Given the description of an element on the screen output the (x, y) to click on. 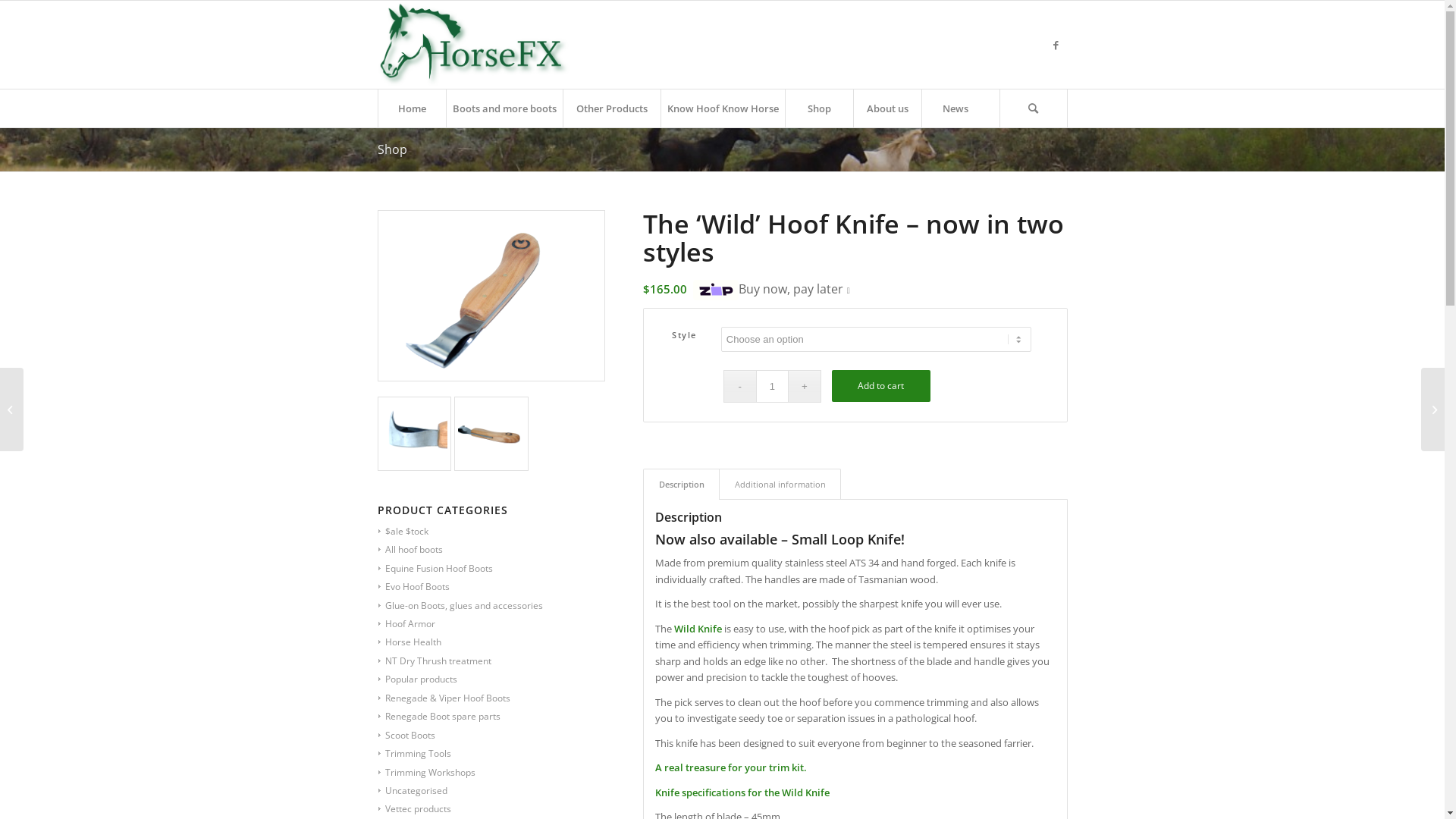
Know Hoof Know Horse Element type: text (721, 108)
Glue-on Boots, glues and accessories Element type: text (459, 605)
Trimming Tools Element type: text (413, 752)
Uncategorised Element type: text (411, 790)
About us Element type: text (886, 108)
Hoof Armor Element type: text (405, 623)
All hoof boots Element type: text (409, 548)
Horse Health Element type: text (408, 641)
Add to cart Element type: text (880, 385)
Shop Element type: text (818, 108)
Scoot Boots Element type: text (405, 734)
Trimming Workshops Element type: text (425, 771)
$ale $tock Element type: text (402, 530)
Popular products Element type: text (416, 678)
Home Element type: text (411, 108)
Facebook Element type: hover (1055, 44)
Vettec products Element type: text (413, 808)
Other Products Element type: text (611, 108)
Description Element type: text (681, 483)
Additional information Element type: text (779, 483)
Equine Fusion Hoof Boots Element type: text (434, 567)
Renegade Boot spare parts Element type: text (438, 715)
Renegade & Viper Hoof Boots Element type: text (443, 697)
Evo Hoof Boots Element type: text (412, 586)
Shop Element type: text (392, 149)
Boots and more boots Element type: text (503, 108)
News Element type: text (954, 108)
NT Dry Thrush treatment Element type: text (433, 660)
